Given the description of an element on the screen output the (x, y) to click on. 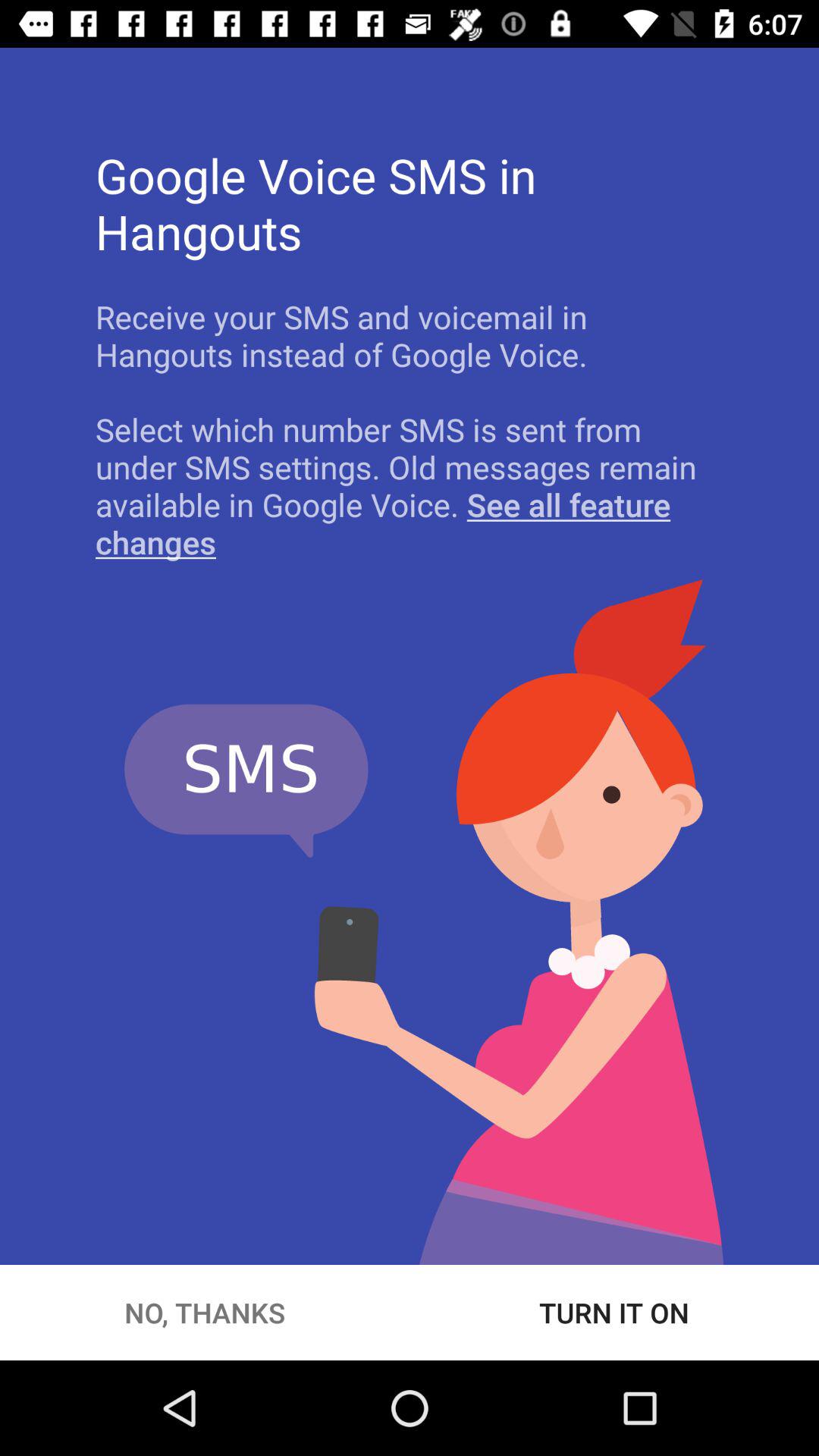
launch the item next to no, thanks (614, 1312)
